Given the description of an element on the screen output the (x, y) to click on. 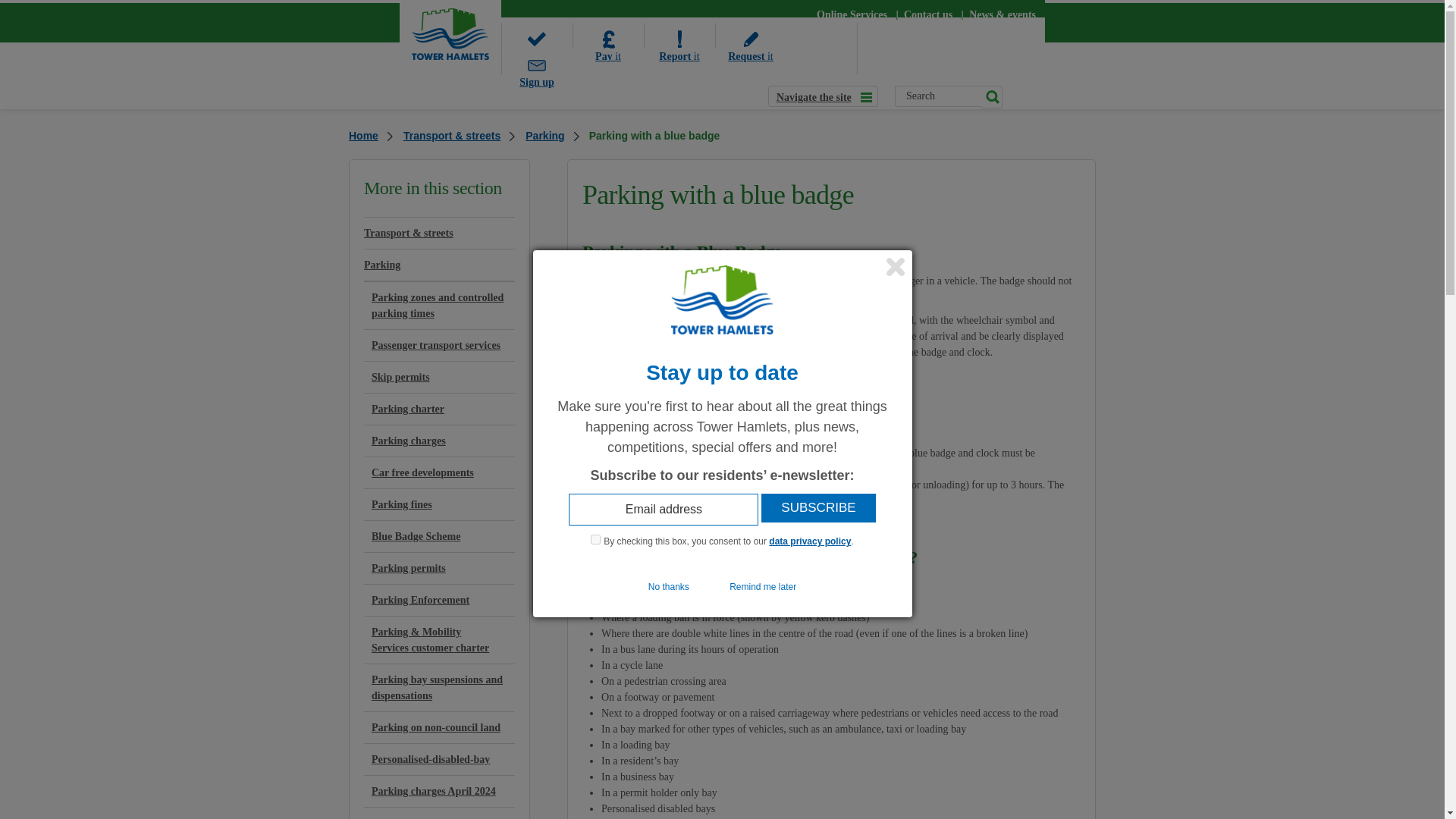
Search (938, 96)
Report it (678, 35)
Parking zones and controlled parking times (439, 305)
Skip permits (439, 377)
Contact us (928, 14)
on (595, 539)
Online services (851, 14)
Sign up (536, 61)
Parking fines (439, 504)
Request it (750, 35)
